Given the description of an element on the screen output the (x, y) to click on. 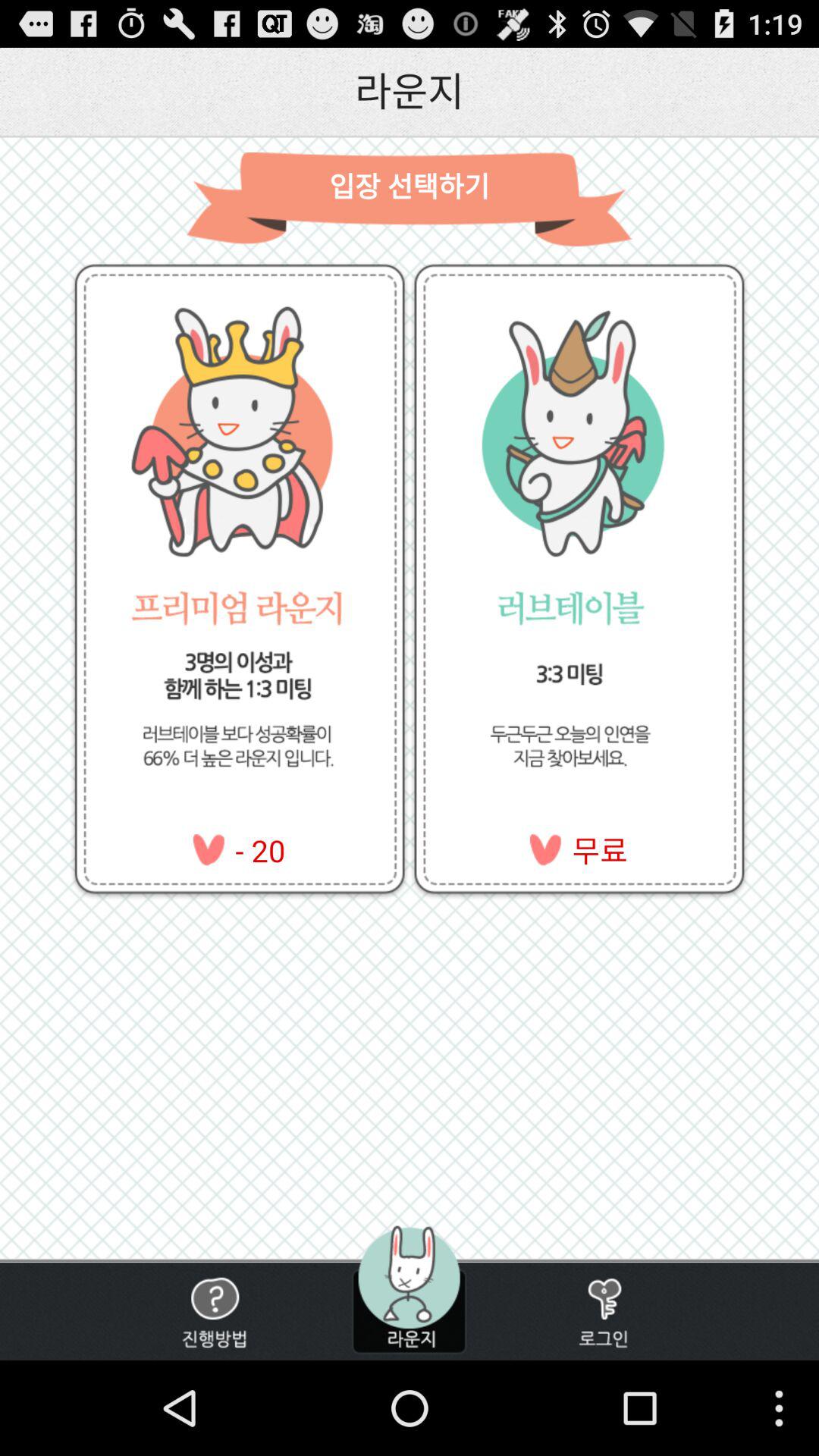
inquiry button (213, 1311)
